Given the description of an element on the screen output the (x, y) to click on. 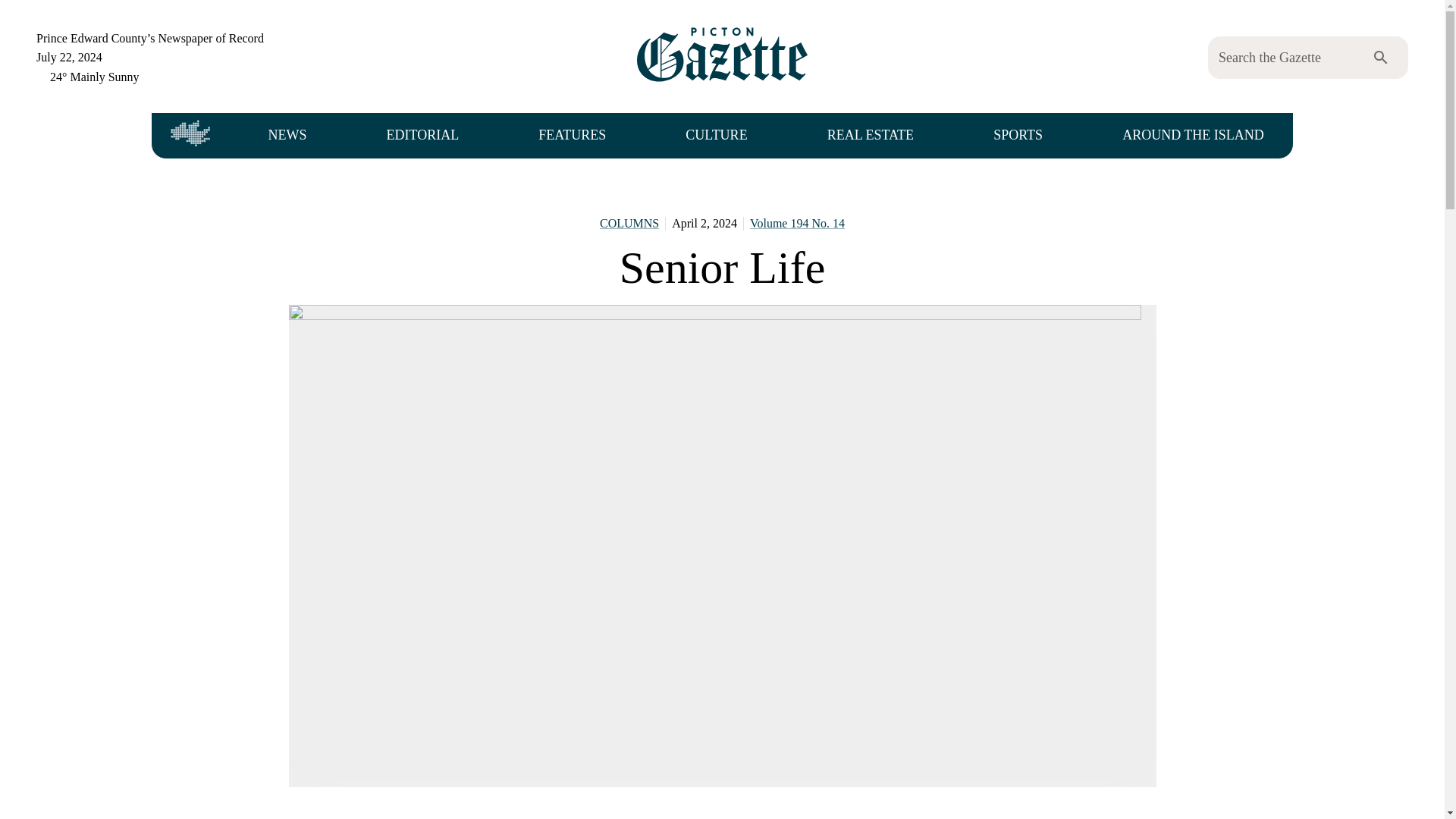
COLUMNS (629, 223)
FEATURES (571, 135)
EDITORIAL (421, 135)
Volume 194 No. 14 (796, 223)
NEWS (287, 135)
AROUND THE ISLAND (1192, 135)
The Picton Gazette (722, 56)
REAL ESTATE (869, 135)
CULTURE (716, 135)
SPORTS (1017, 135)
The Picton Gazette (722, 54)
